Given the description of an element on the screen output the (x, y) to click on. 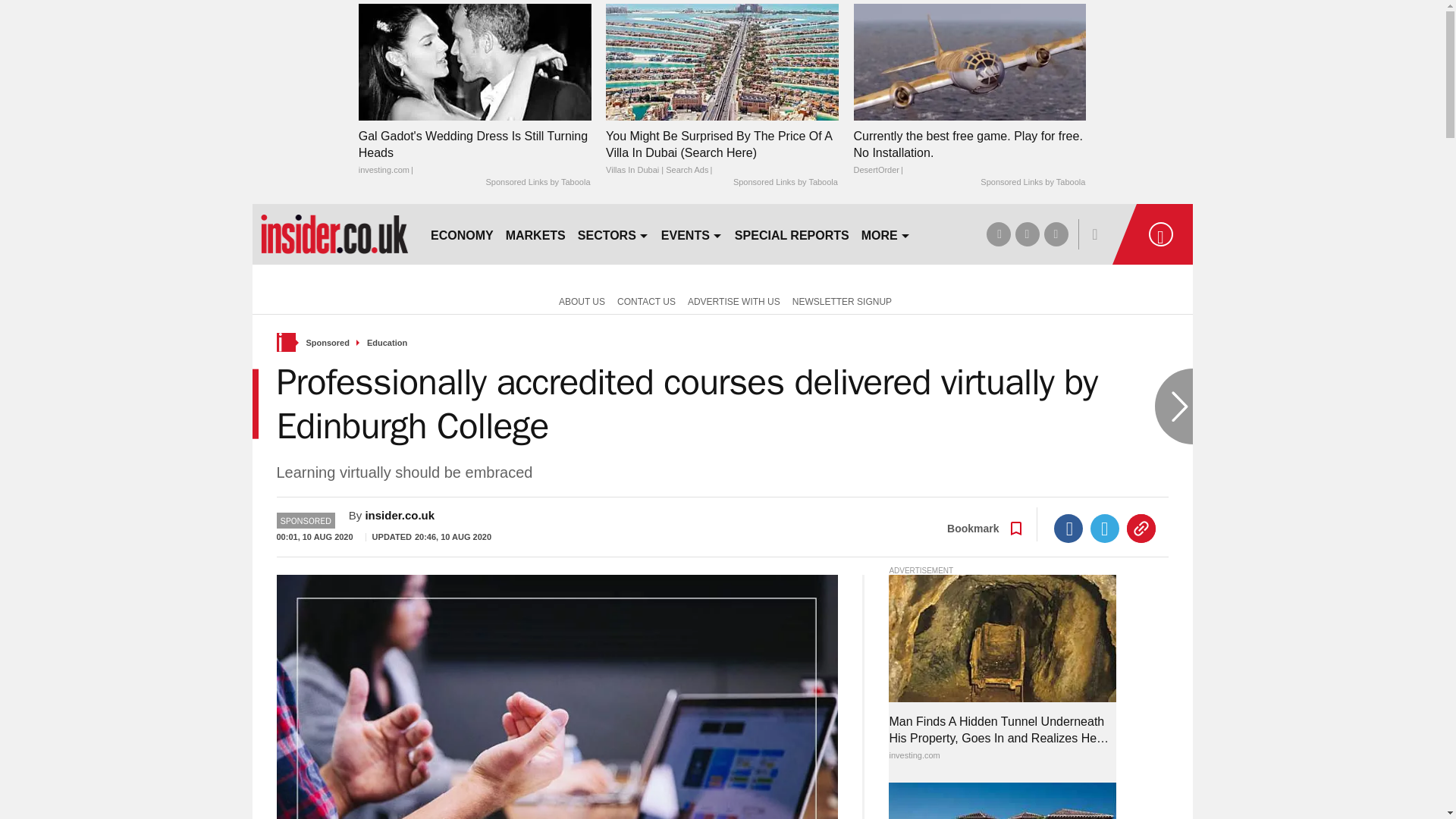
EVENTS (692, 233)
businessInsider (333, 233)
facebook (997, 233)
Gal Gadot's Wedding Dress Is Still Turning Heads (474, 152)
Twitter (1104, 528)
Sponsored Links by Taboola (1031, 182)
Sponsored Links by Taboola (785, 182)
SECTORS (613, 233)
Sponsored Links by Taboola (536, 182)
SPECIAL REPORTS (792, 233)
ECONOMY (462, 233)
linkedin (1055, 233)
MORE (886, 233)
